Given the description of an element on the screen output the (x, y) to click on. 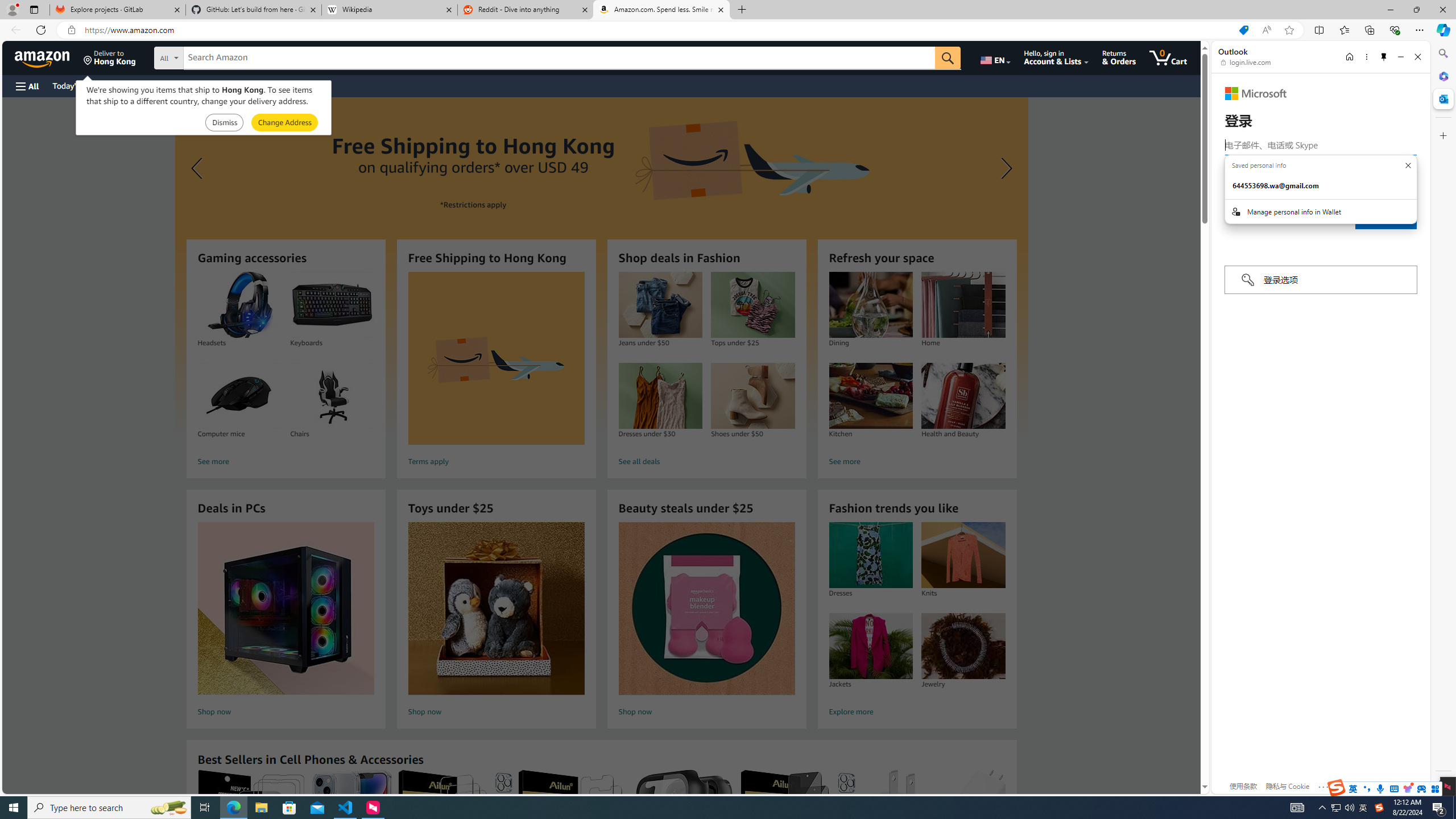
Jeans under $50 (659, 304)
Kitchen (870, 395)
See all deals (706, 461)
Dining (870, 304)
Registry (205, 85)
Manage personal info in Wallet (1320, 211)
Free Shipping to Hong Kong (496, 357)
Returns & Orders (1119, 57)
